Given the description of an element on the screen output the (x, y) to click on. 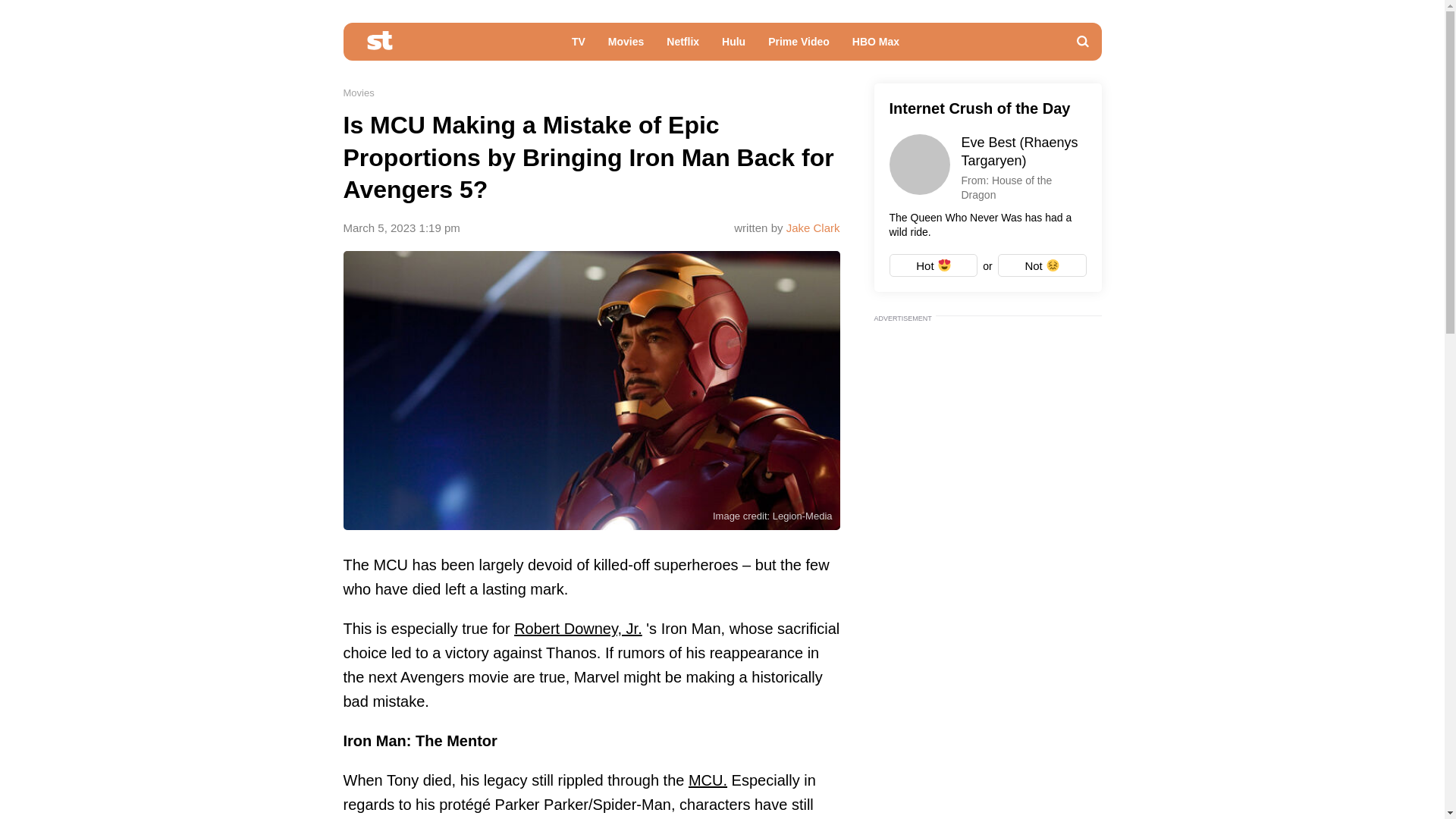
Hulu (733, 46)
Jake Clark (813, 227)
HBO Max (876, 46)
Prime Video (799, 46)
Netflix (682, 46)
Robert Downey, Jr. (577, 628)
Movies (625, 46)
Movies (358, 92)
TV (578, 46)
